Given the description of an element on the screen output the (x, y) to click on. 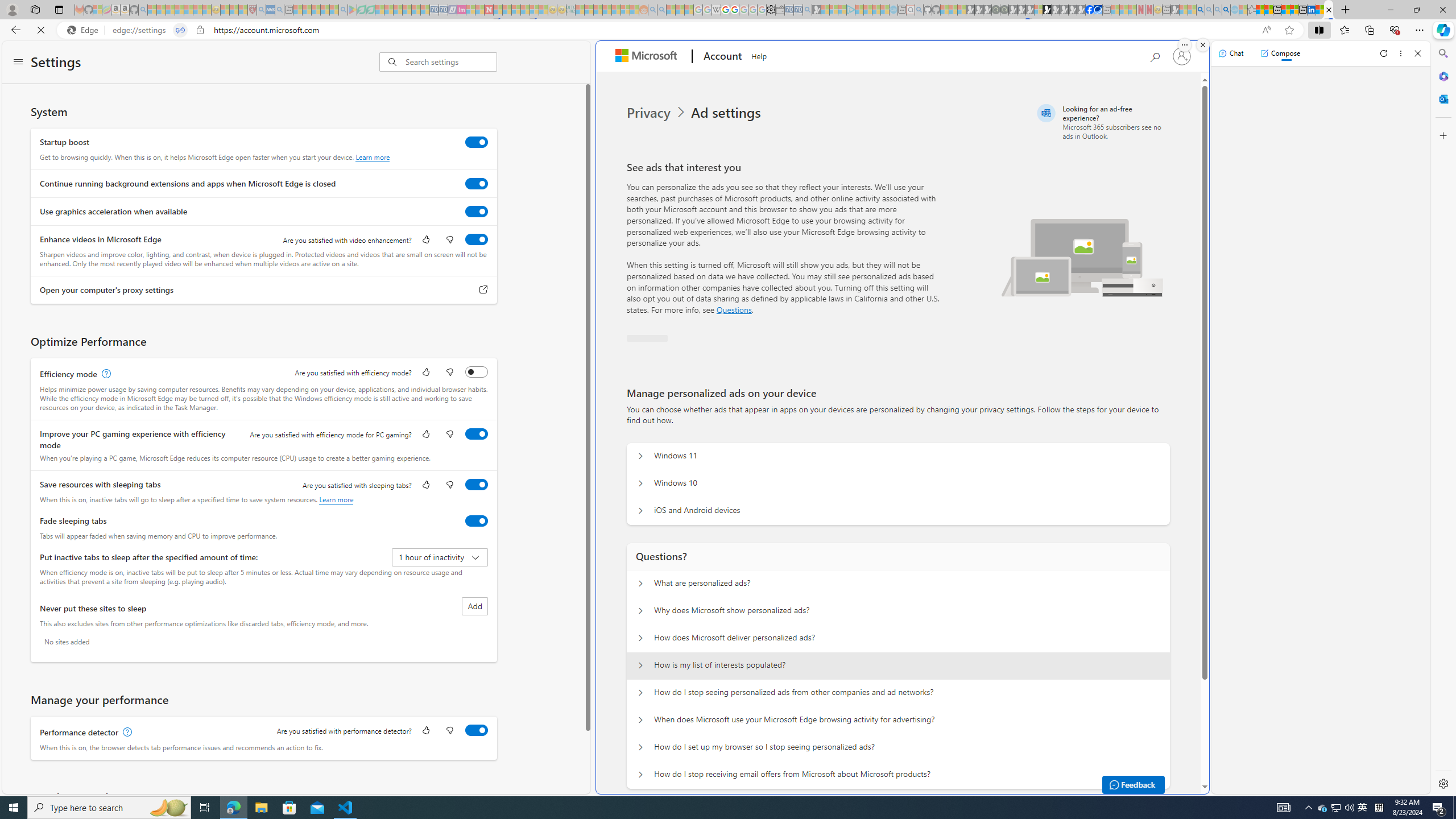
Pets - MSN - Sleeping (324, 9)
Terms of Use Agreement - Sleeping (361, 9)
Jobs - lastminute.com Investor Portal - Sleeping (461, 9)
Google Chrome Internet Browser Download - Search Images (1225, 9)
